Given the description of an element on the screen output the (x, y) to click on. 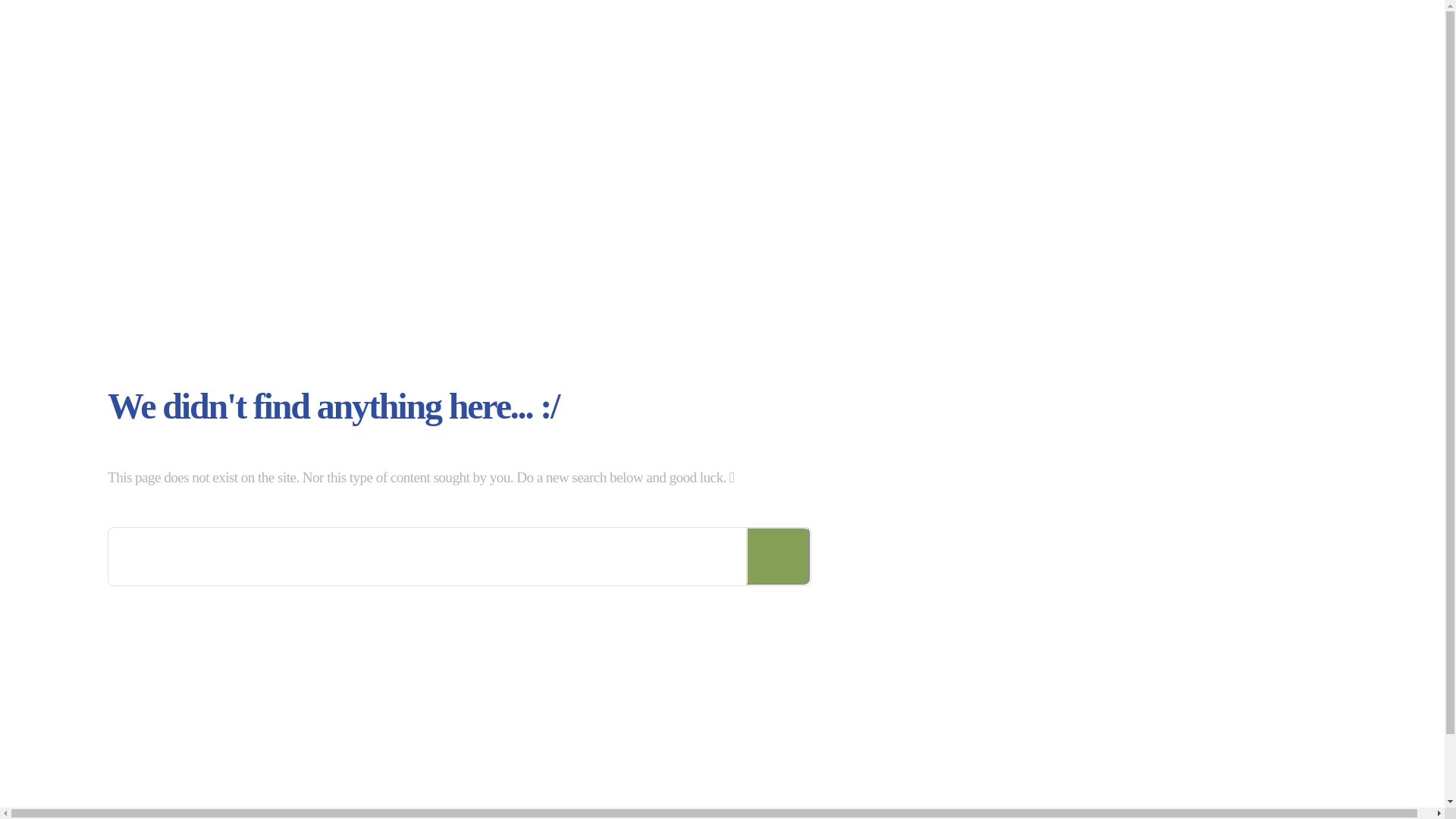
Youtube Element type: hover (1233, 800)
Linkedin Element type: hover (1171, 800)
Mail Element type: hover (1202, 800)
